Given the description of an element on the screen output the (x, y) to click on. 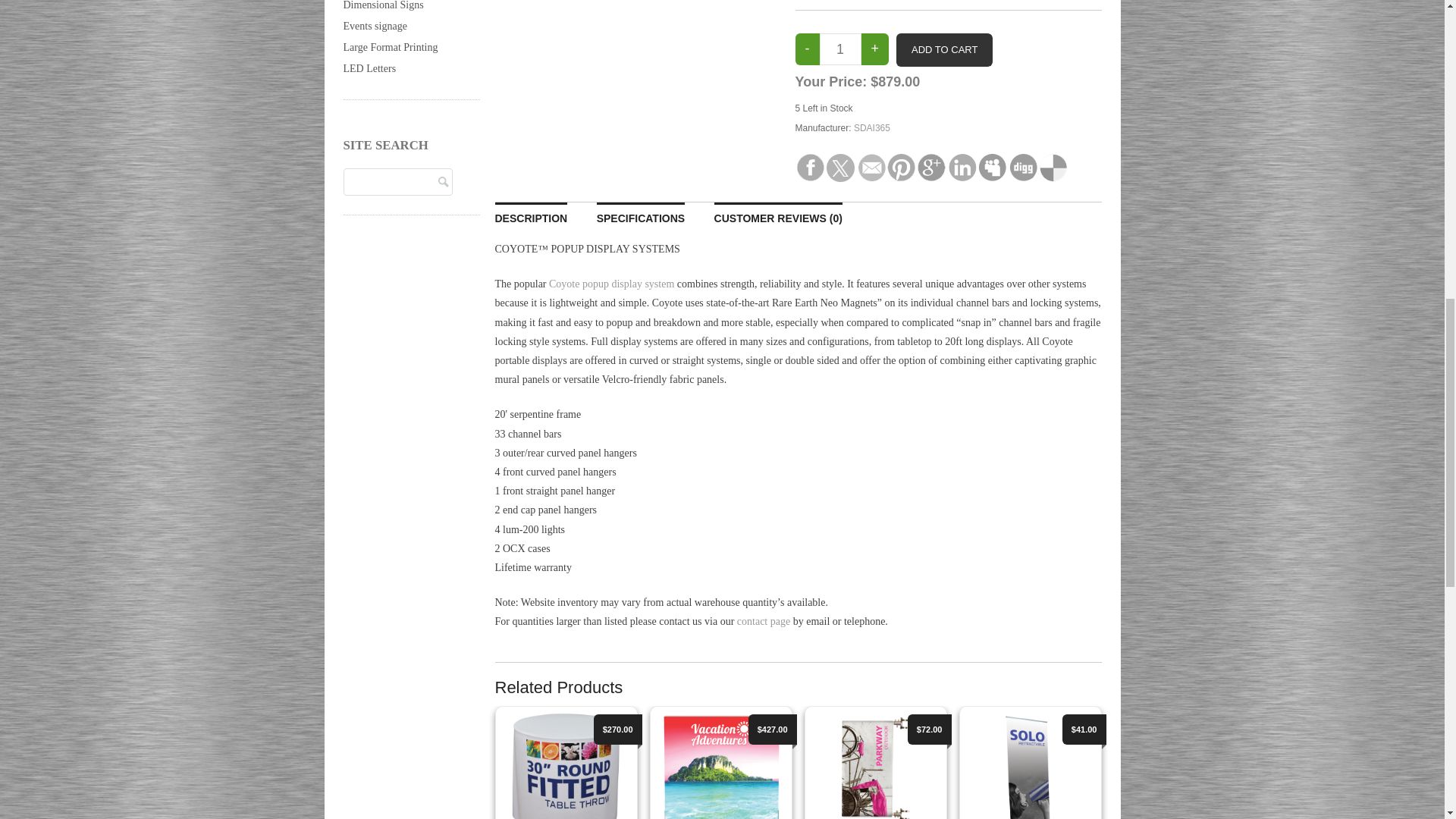
SDAI365 (871, 127)
1 (839, 49)
ADD TO CART (944, 49)
ADD TO CART (944, 49)
